Given the description of an element on the screen output the (x, y) to click on. 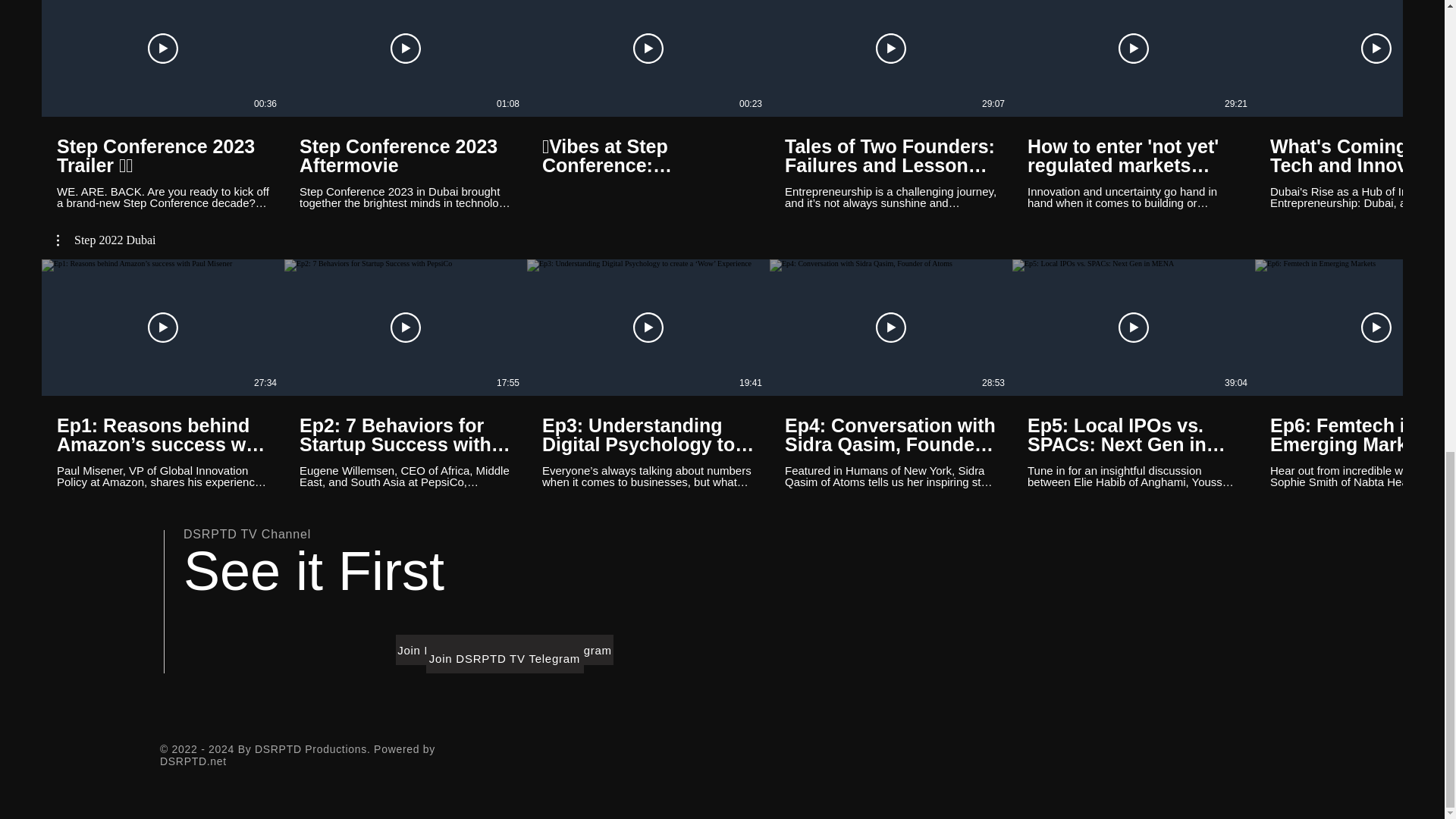
Step Conference 2023 Aftermovie (405, 155)
Ep2: 7 Behaviors for Startup Success with PepsiCo (405, 434)
Ep4: Conversation with Sidra Qasim, Founder of Atoms (890, 434)
Ep5: Local IPOs vs. SPACs: Next Gen in MENA (1133, 434)
